Given the description of an element on the screen output the (x, y) to click on. 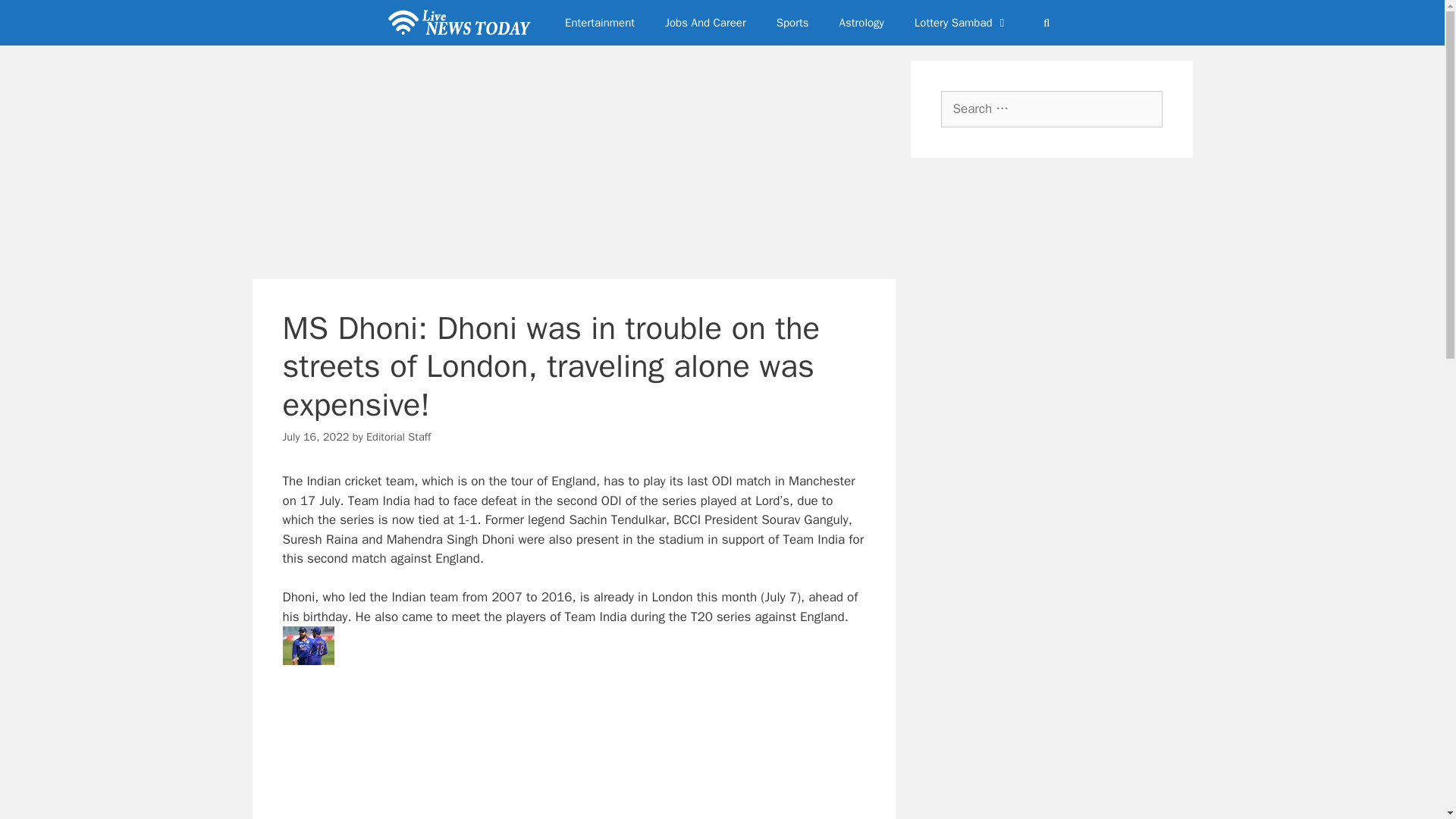
LIVE NEWS TODAY (458, 22)
Jobs And Career (705, 22)
Search (35, 18)
LIVE NEWS TODAY (461, 22)
Entertainment (599, 22)
Sports (792, 22)
View all posts by Editorial Staff (398, 436)
Search for: (1050, 108)
Advertisement (588, 754)
